Given the description of an element on the screen output the (x, y) to click on. 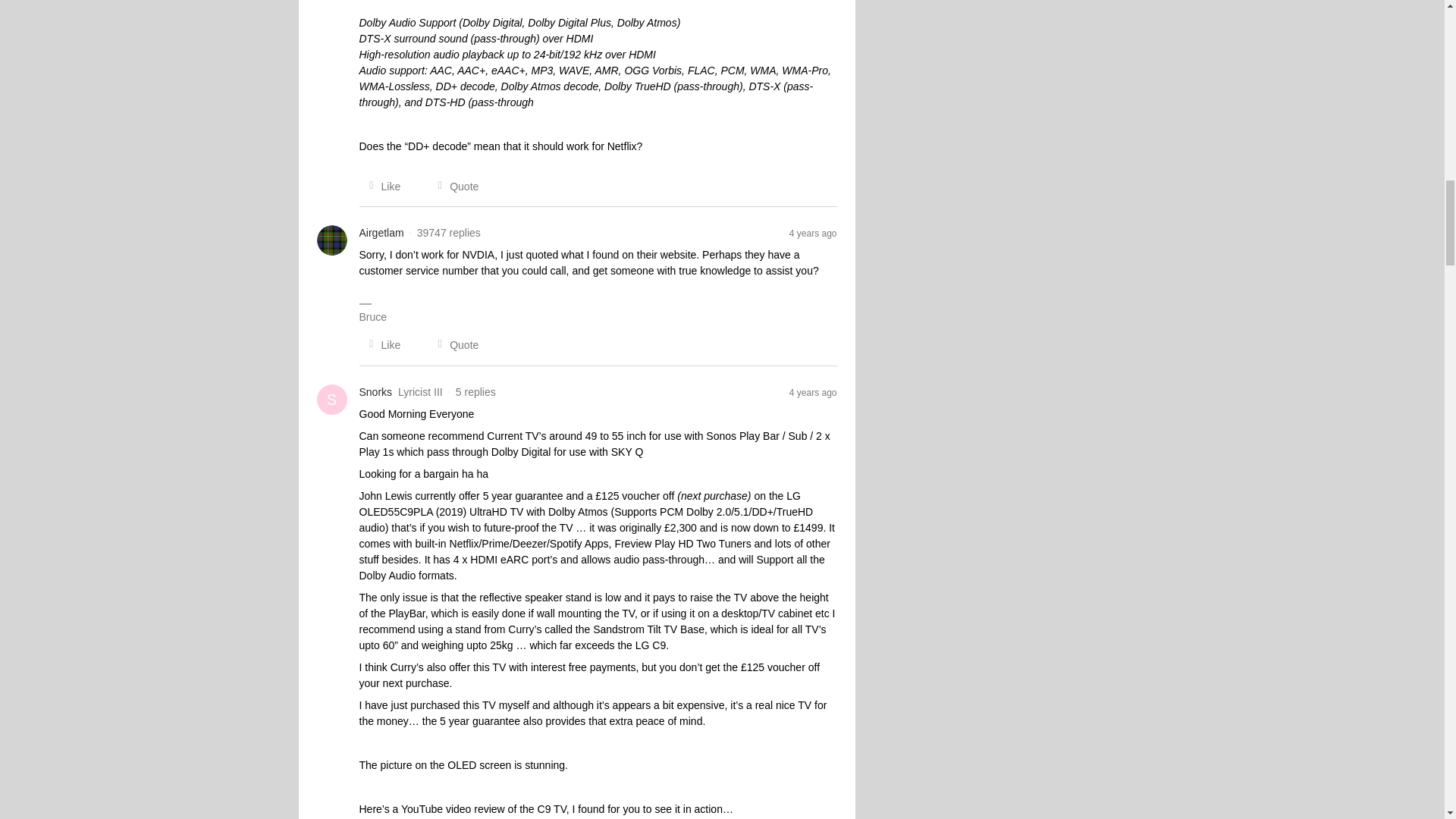
Airgetlam (381, 232)
Snorks (376, 392)
